Given the description of an element on the screen output the (x, y) to click on. 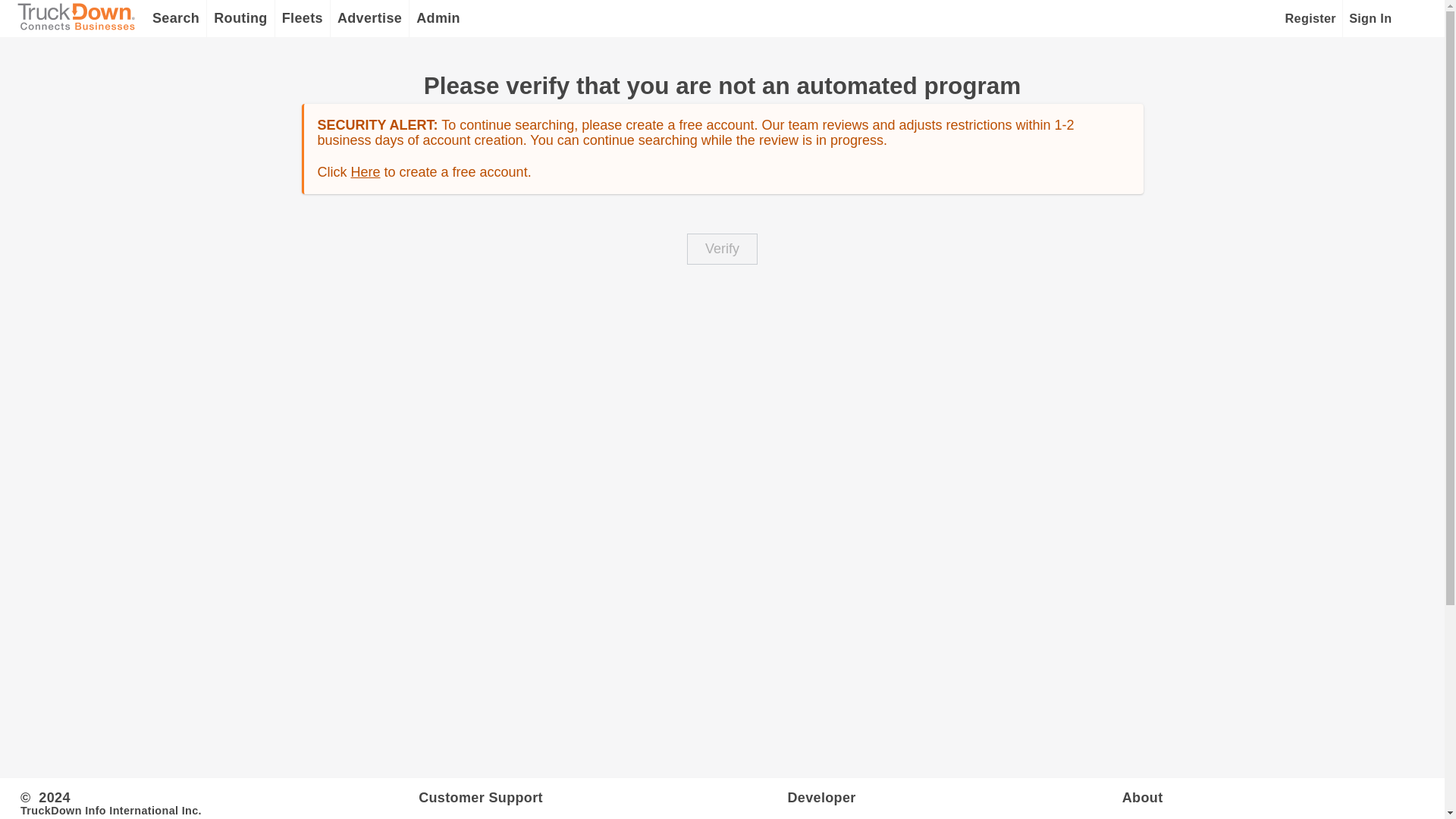
Developer Tools (954, 796)
Fleets (302, 18)
Register (1311, 18)
Developer (954, 796)
Here (365, 171)
Register a New Account (1311, 18)
Advertise (369, 18)
Sign In (1369, 18)
Routing (240, 18)
Customer Support (603, 796)
Log into your existing account (1369, 18)
About (1272, 796)
Verify (722, 248)
